Given the description of an element on the screen output the (x, y) to click on. 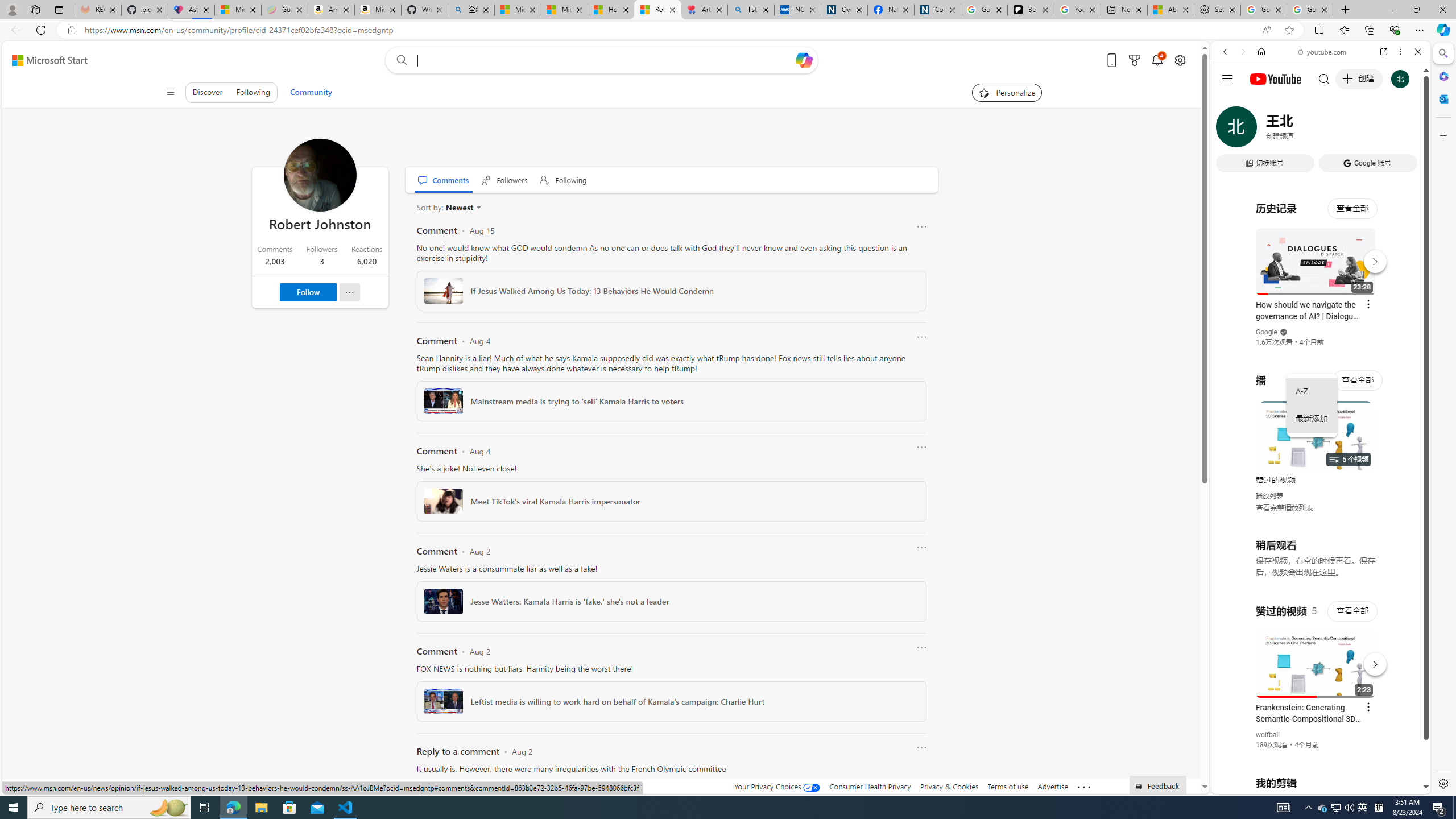
Search videos from youtube.com (1299, 373)
Class: cwt-icon-vector (478, 207)
